Given the description of an element on the screen output the (x, y) to click on. 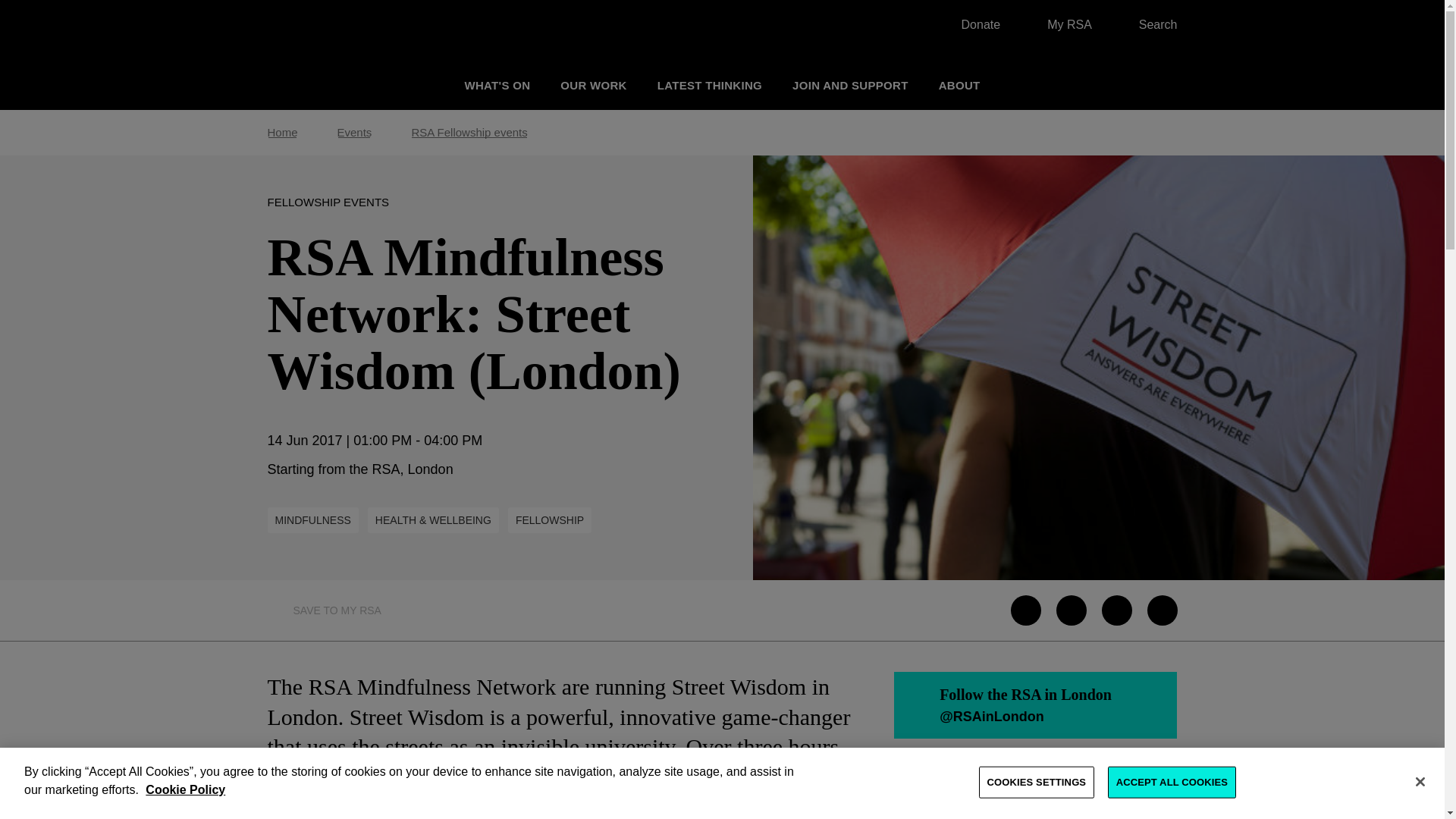
My RSA (1061, 24)
WHAT'S ON (496, 84)
Search (1149, 24)
Donate (972, 24)
LATEST THINKING (709, 84)
OUR WORK (593, 84)
